Given the description of an element on the screen output the (x, y) to click on. 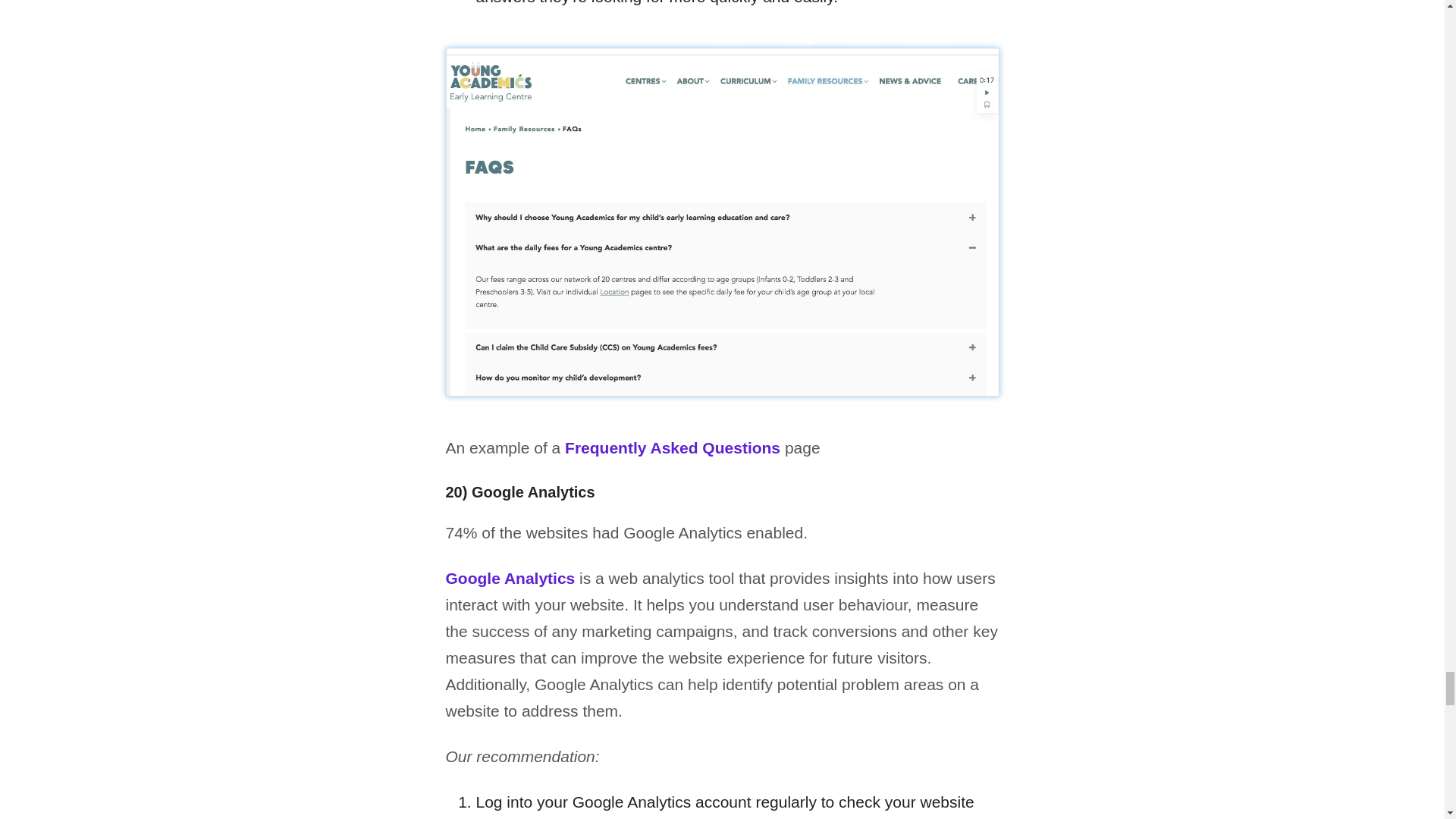
Google Analytics (510, 578)
Frequently Asked Questions (672, 447)
